Given the description of an element on the screen output the (x, y) to click on. 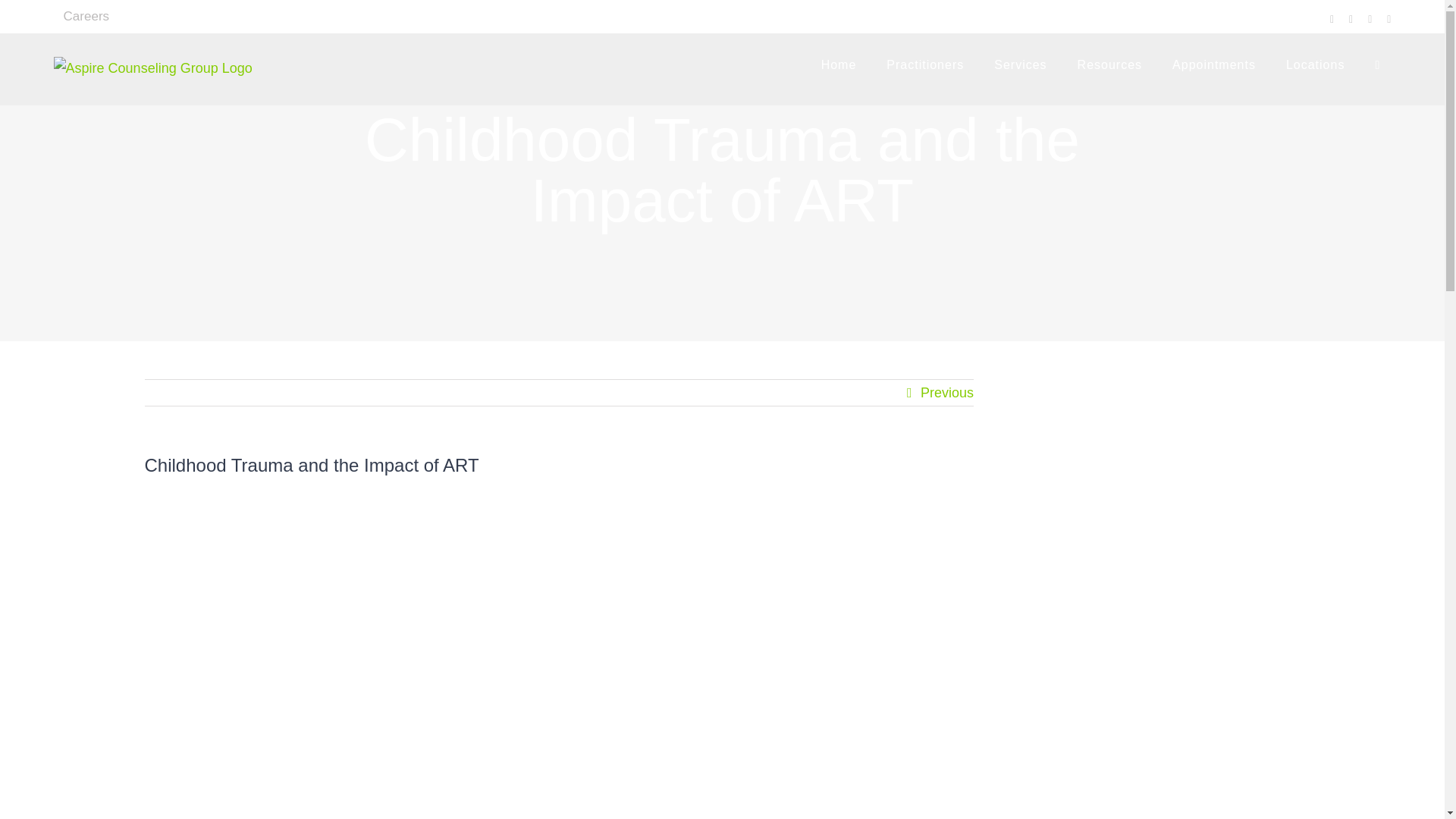
Practitioners (924, 65)
Resources (1109, 65)
Careers (86, 16)
